Given the description of an element on the screen output the (x, y) to click on. 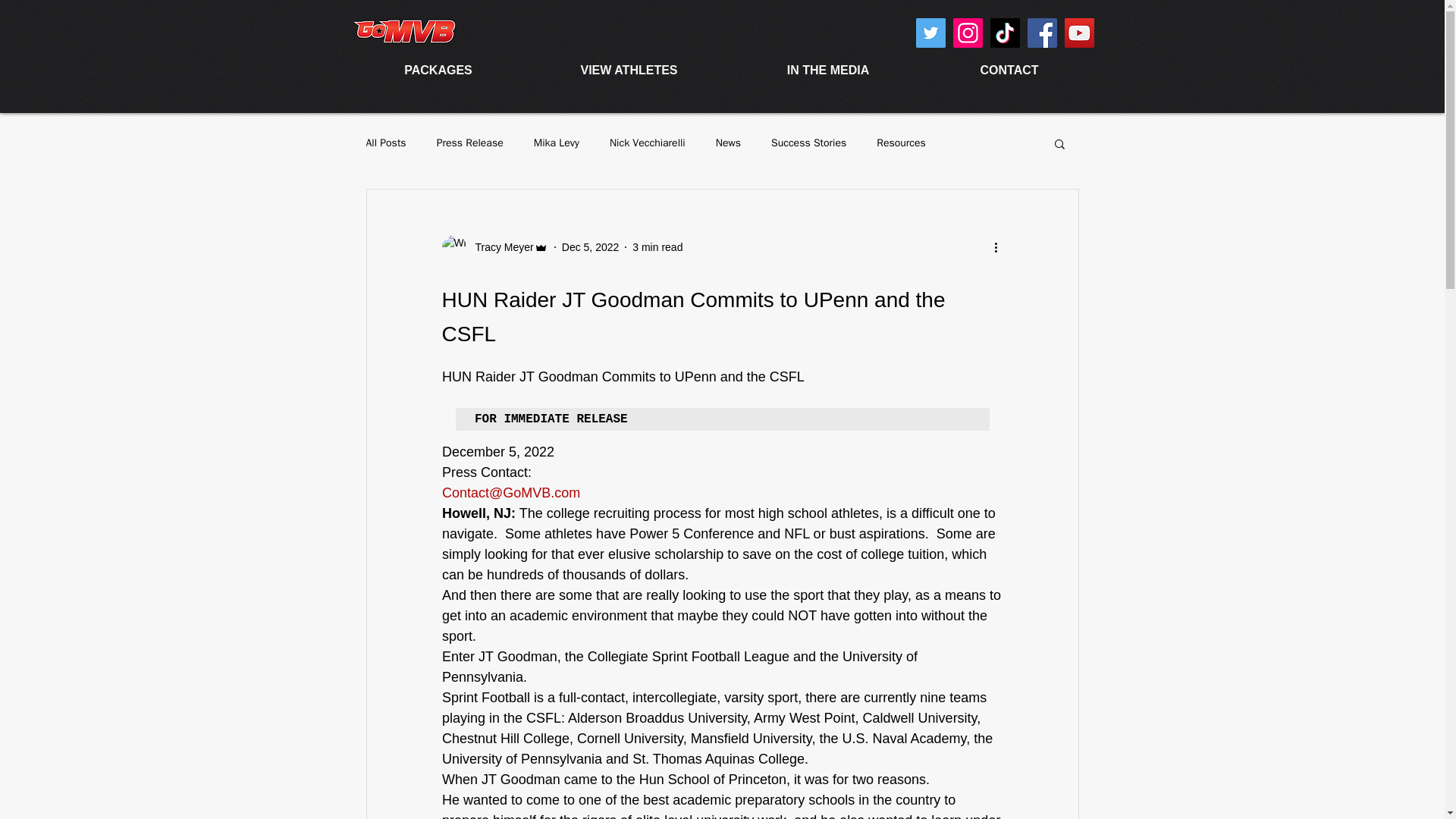
Tracy Meyer (498, 247)
Press Release (469, 142)
3 min read (656, 246)
PACKAGES (437, 70)
CONTACT (1008, 70)
Resources (901, 142)
Mika Levy (556, 142)
All Posts (385, 142)
IN THE MEDIA (826, 70)
News (728, 142)
